Given the description of an element on the screen output the (x, y) to click on. 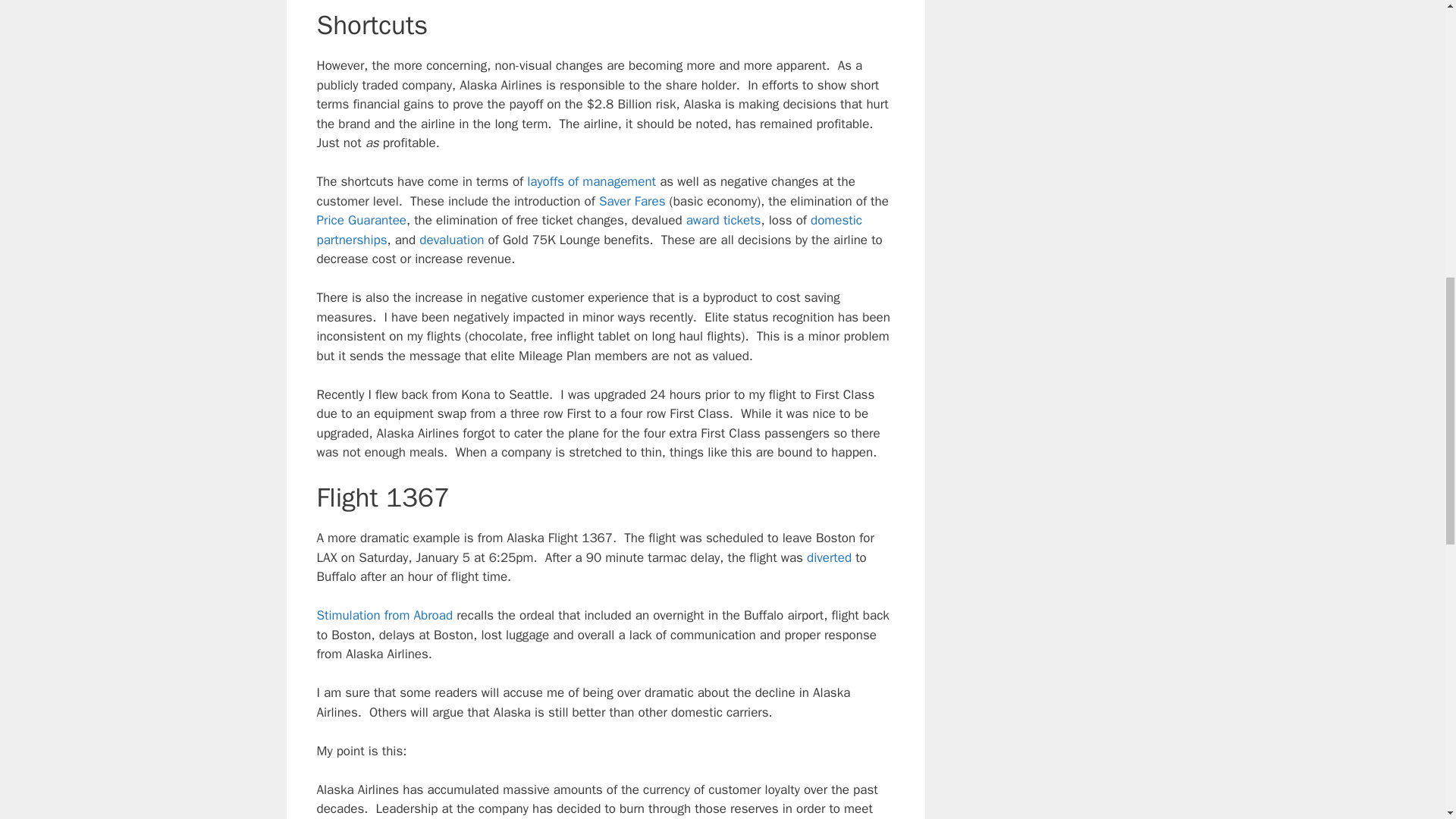
domestic partnerships (589, 230)
Price Guarantee (361, 220)
layoffs of management (591, 181)
devaluation (451, 239)
Stimulation from Abroad (384, 615)
diverted (828, 557)
Saver Fares (631, 201)
Scroll back to top (1406, 720)
award tickets (723, 220)
